Given the description of an element on the screen output the (x, y) to click on. 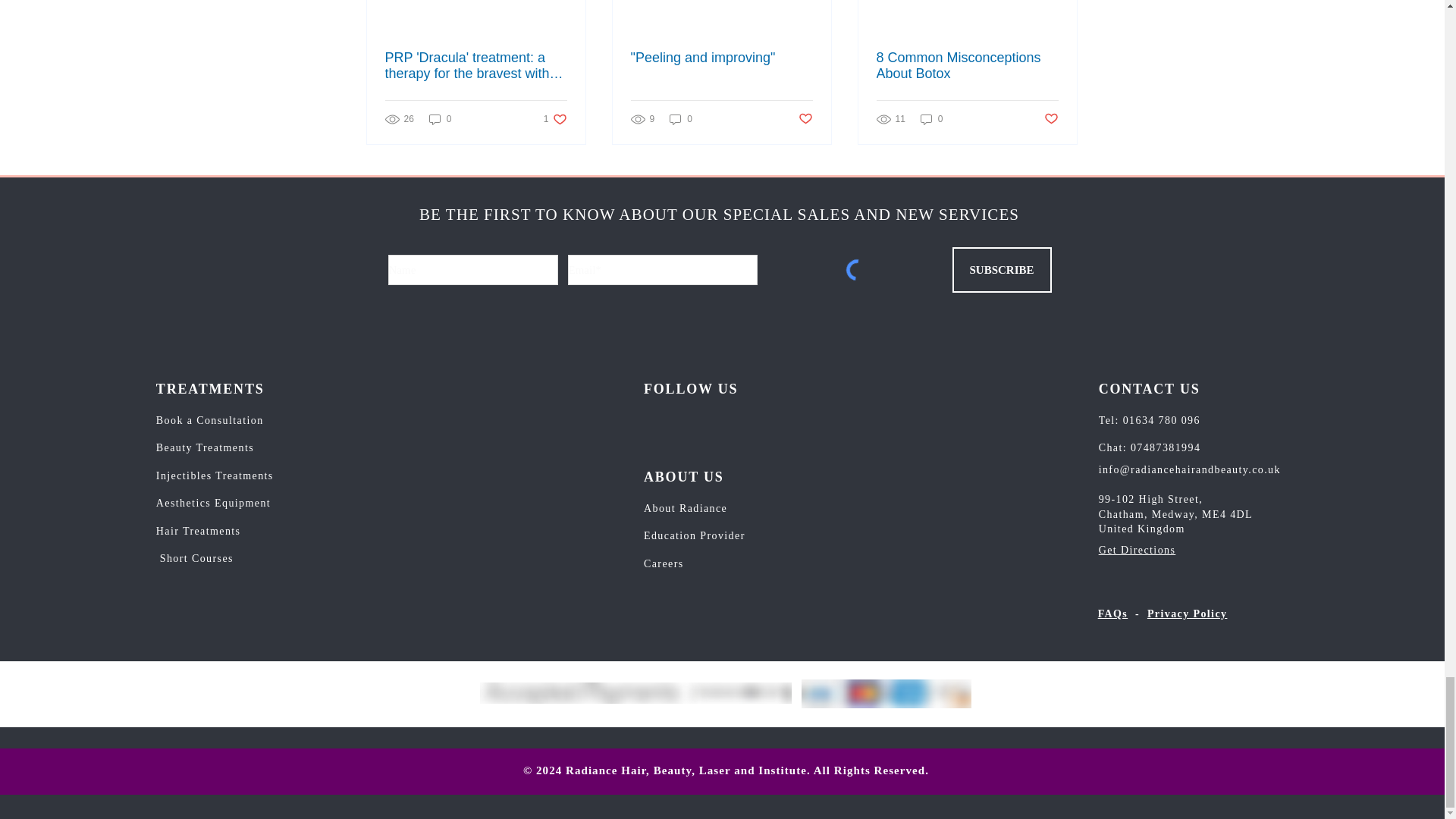
"Peeling and improving" (721, 57)
Post not marked as liked (804, 119)
0 (555, 119)
0 (440, 119)
